Given the description of an element on the screen output the (x, y) to click on. 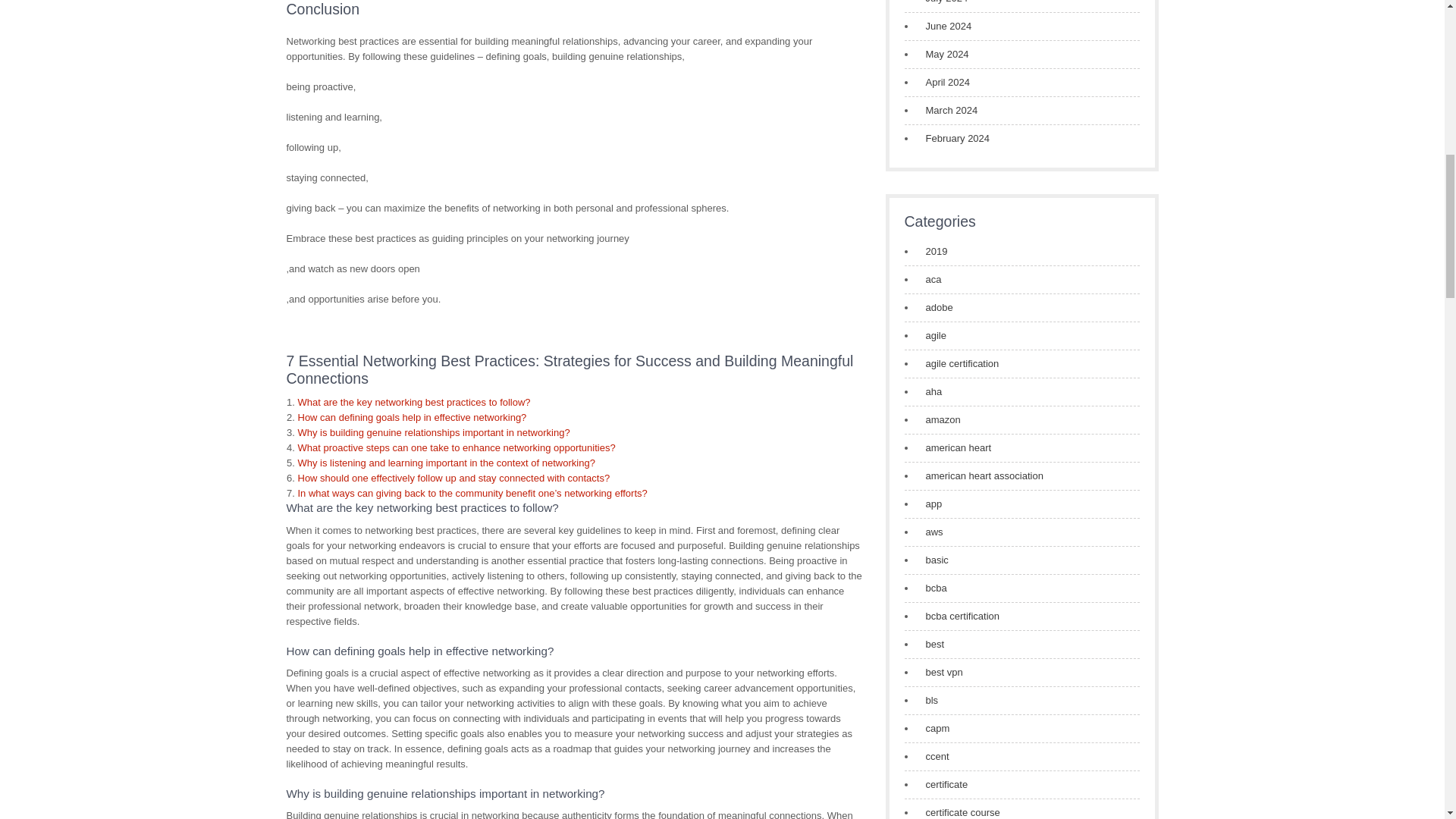
What are the key networking best practices to follow? (413, 401)
June 2024 (944, 26)
February 2024 (953, 138)
April 2024 (943, 82)
March 2024 (946, 110)
July 2024 (942, 2)
How can defining goals help in effective networking? (411, 417)
May 2024 (942, 54)
